Given the description of an element on the screen output the (x, y) to click on. 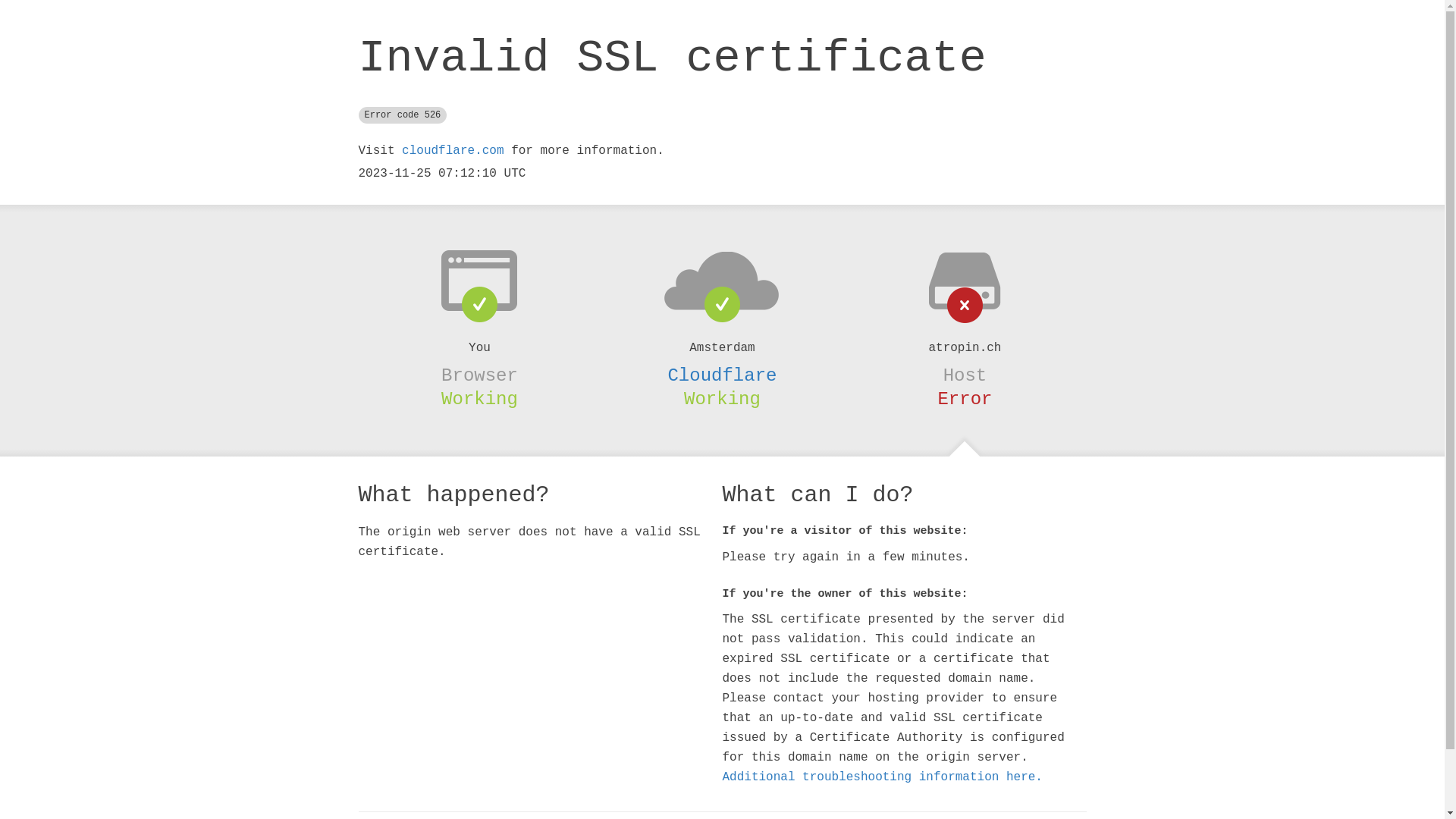
Additional troubleshooting information here. Element type: text (881, 777)
Cloudflare Element type: text (721, 375)
cloudflare.com Element type: text (452, 150)
